Given the description of an element on the screen output the (x, y) to click on. 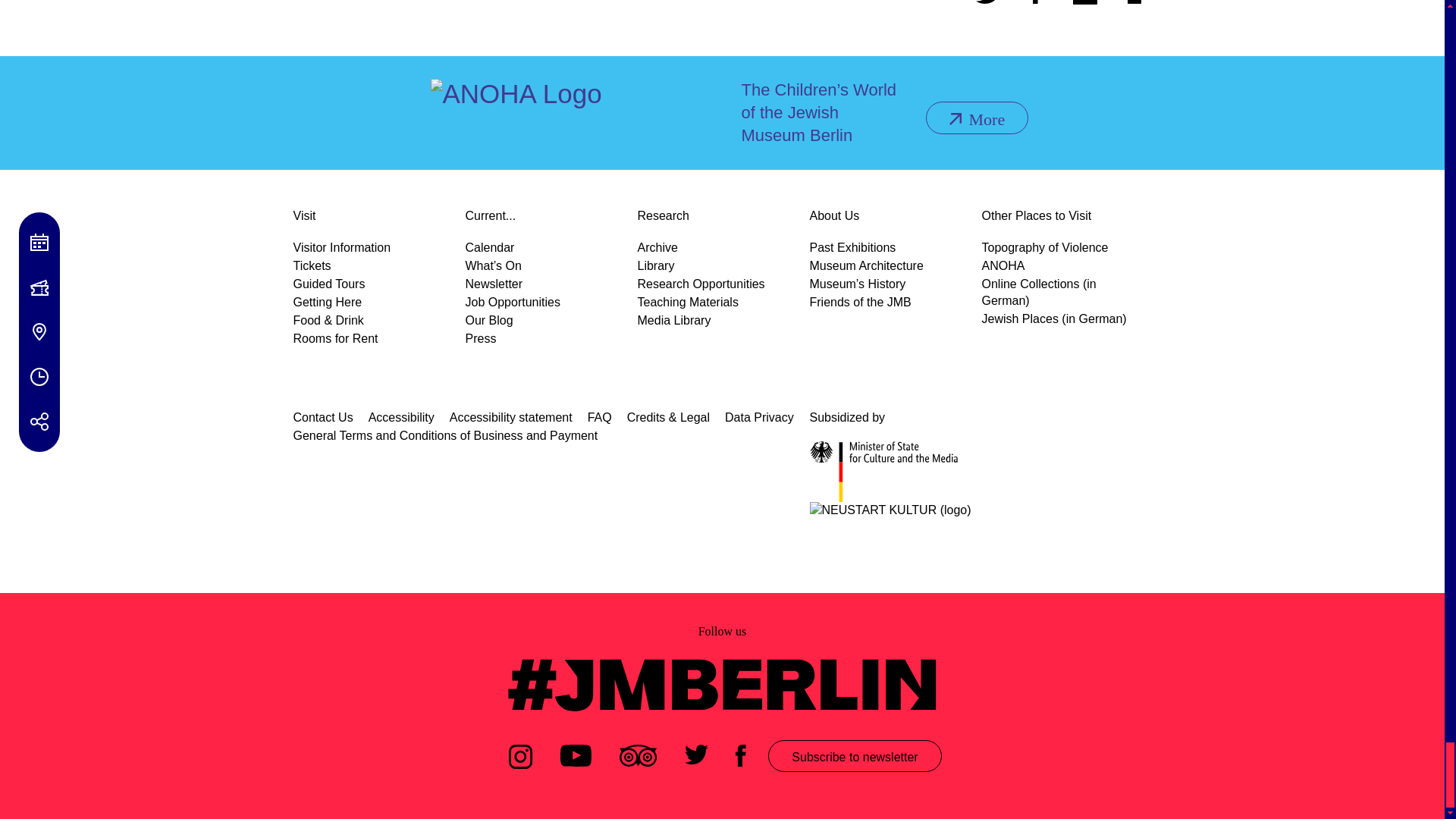
Share on Facebook (1035, 4)
Contact us (1138, 4)
Subscribe to the newsletter (1083, 4)
Share on Twitter (989, 4)
